Given the description of an element on the screen output the (x, y) to click on. 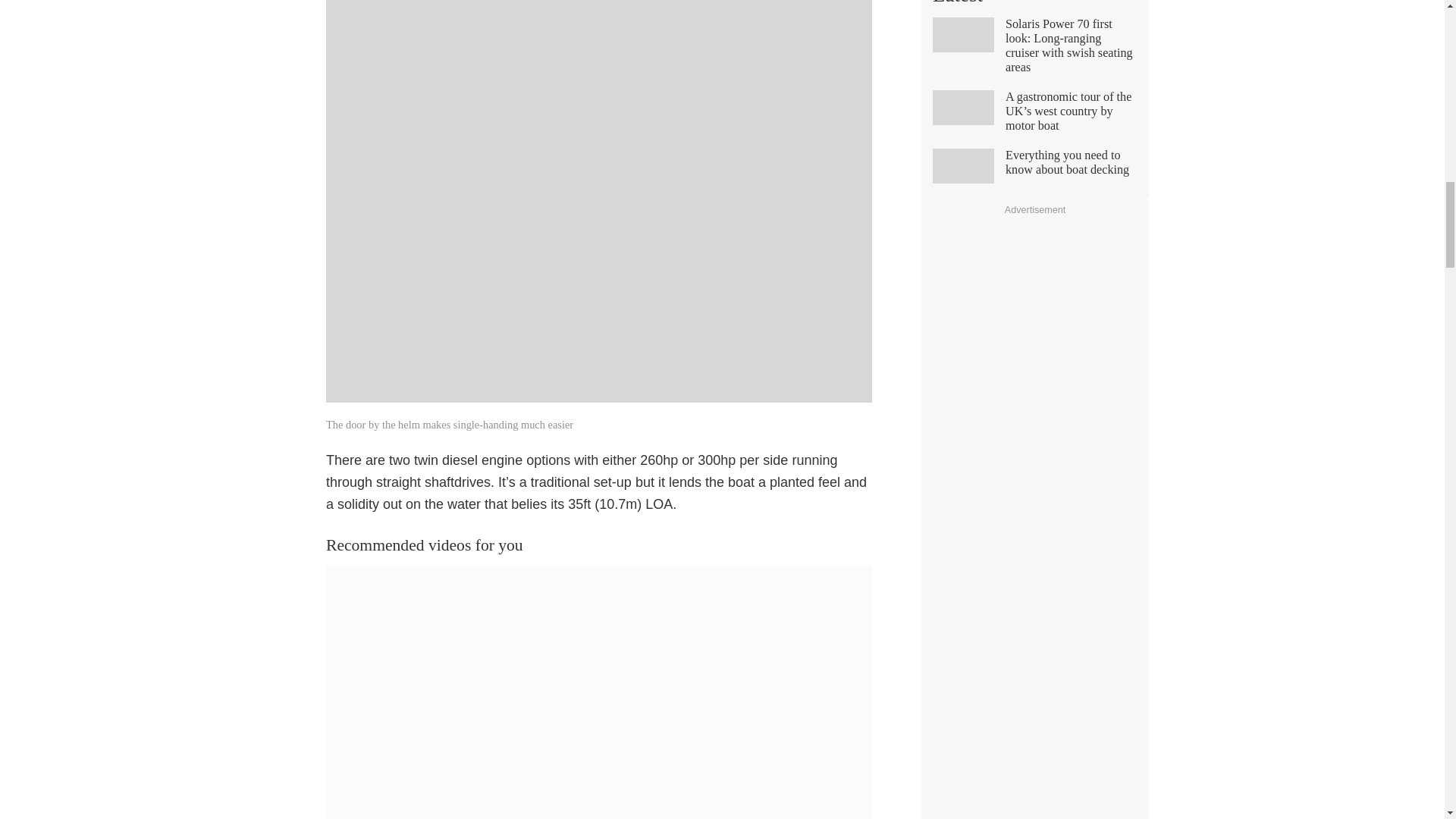
Everything you need to know about boat decking (1035, 168)
